Given the description of an element on the screen output the (x, y) to click on. 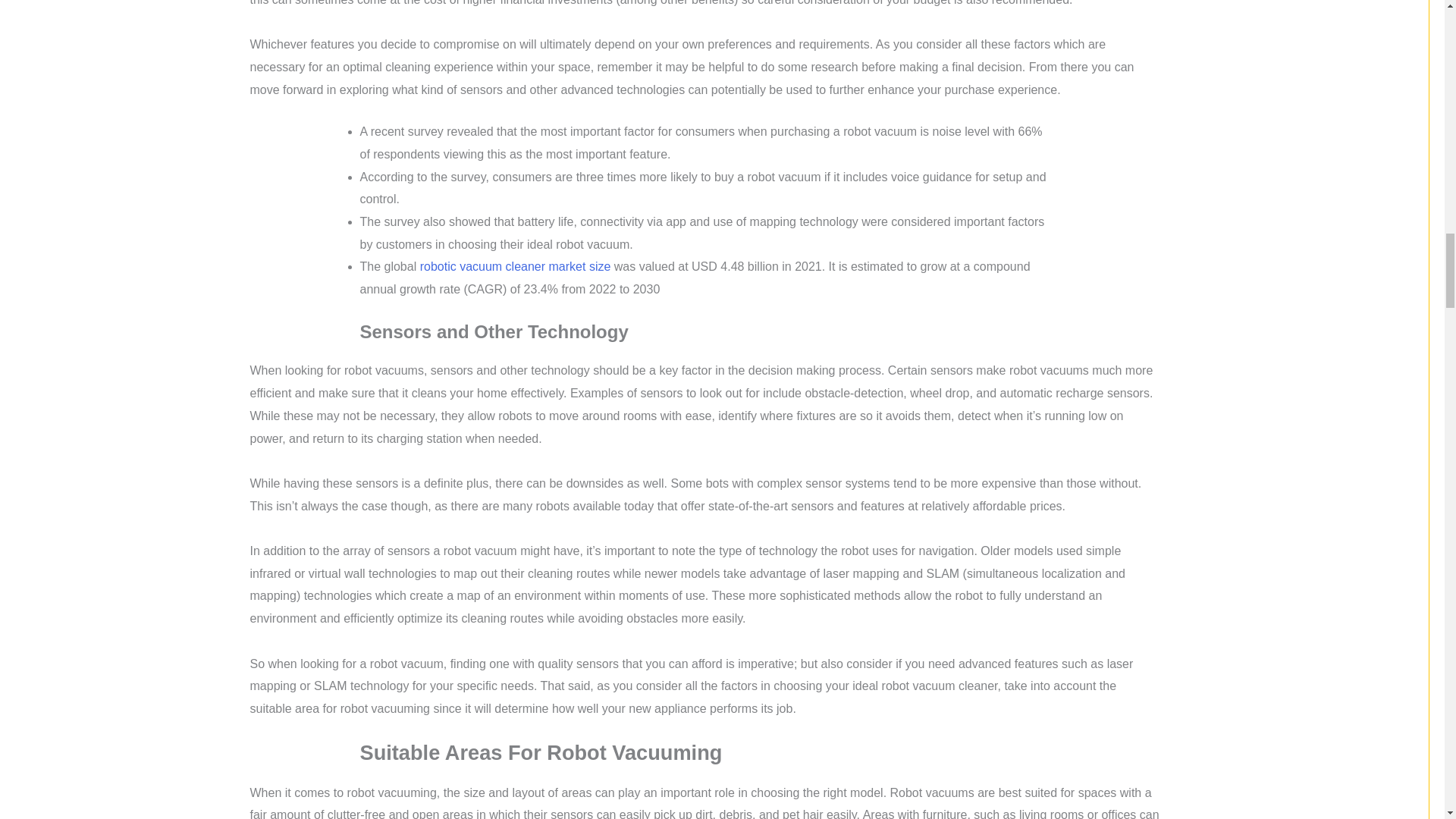
robotic vacuum cleaner market size (515, 266)
